Given the description of an element on the screen output the (x, y) to click on. 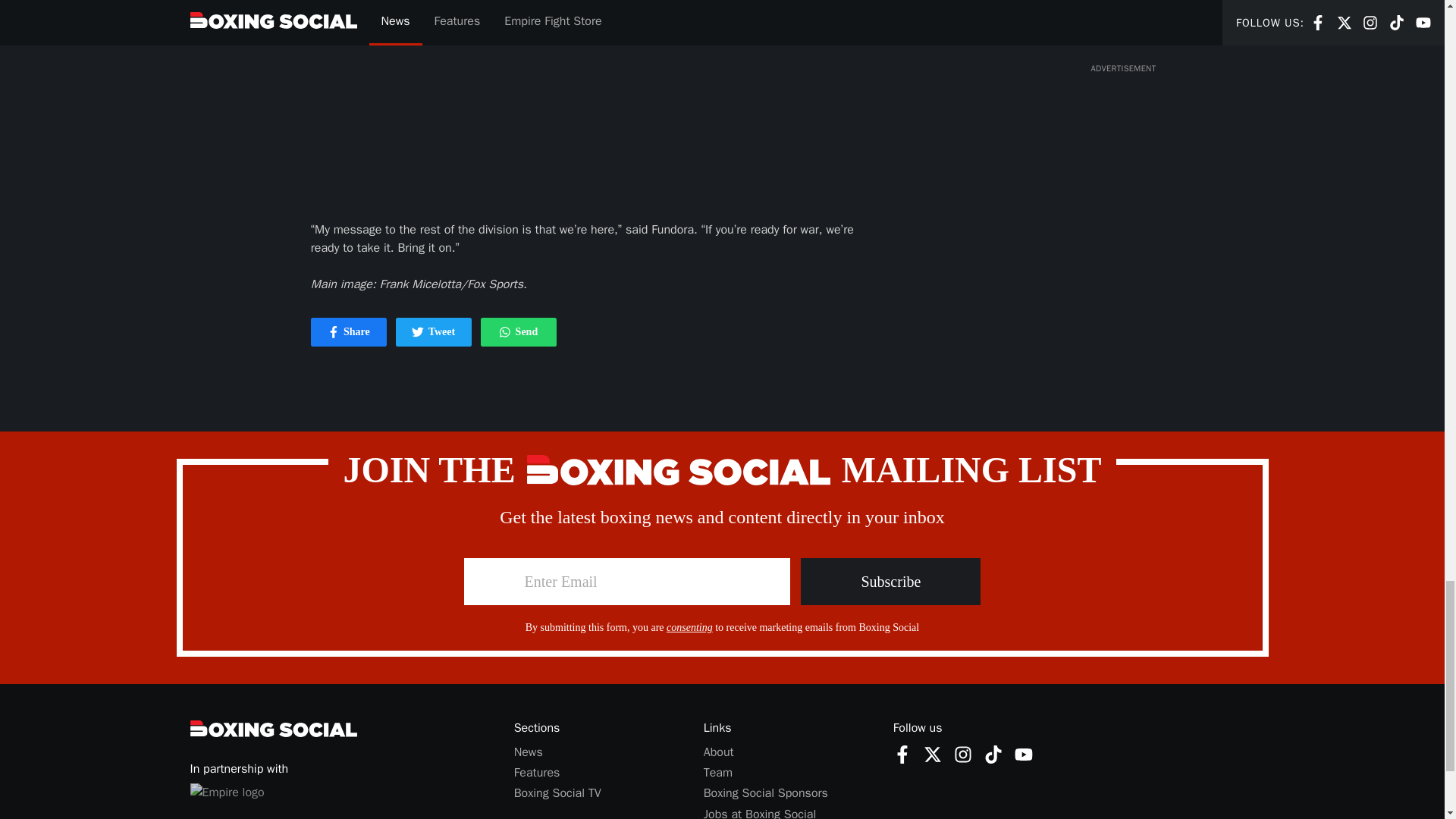
Boxing Social TV (557, 792)
Subscribe (889, 581)
Jobs at Boxing Social (759, 812)
Facebook (902, 754)
Boxing Social Sponsors (765, 792)
Twitter (902, 753)
Team (417, 331)
TikTok (717, 772)
WhatsApp (993, 754)
Facebook (1023, 753)
X (505, 331)
